Given the description of an element on the screen output the (x, y) to click on. 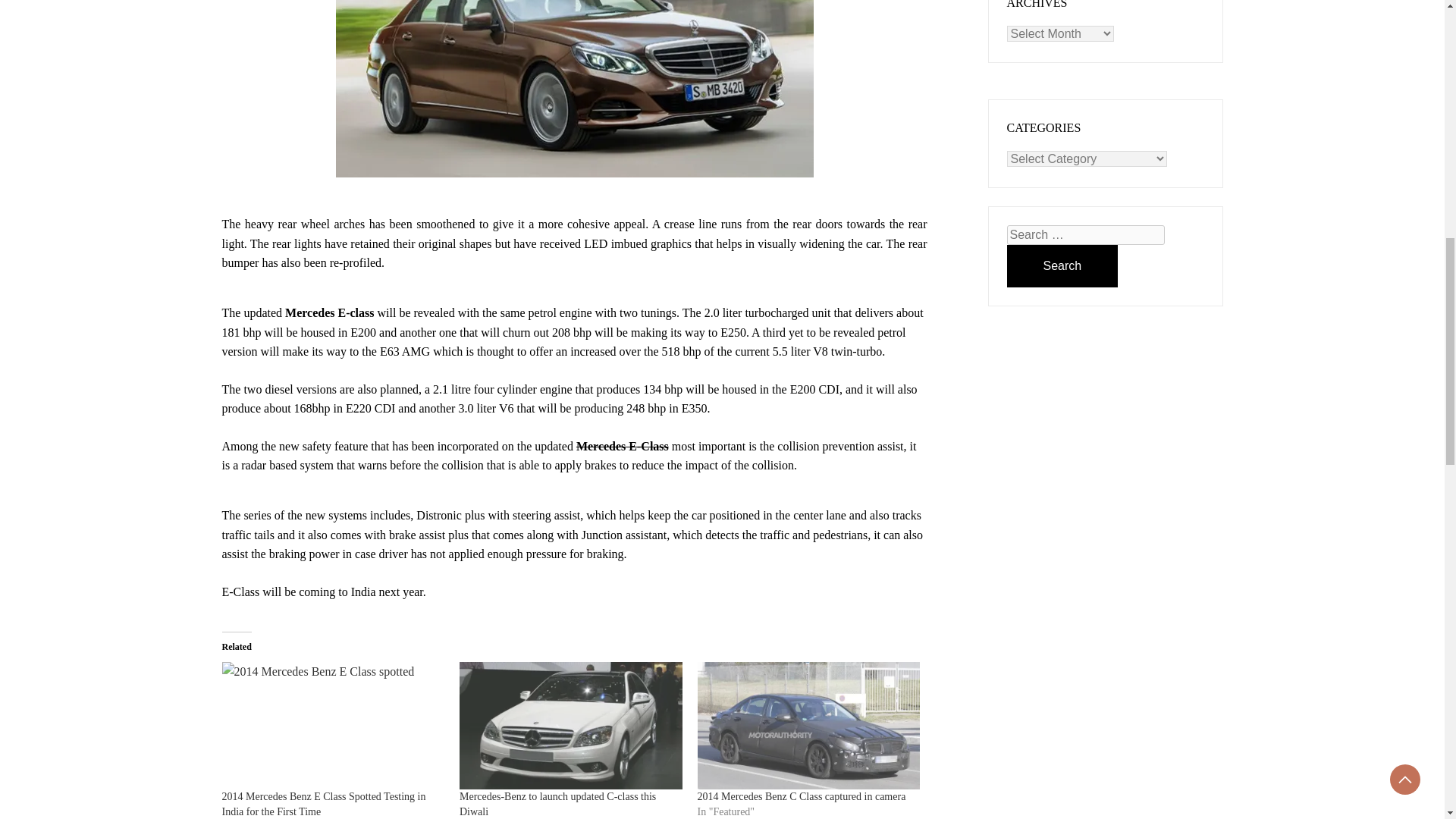
2014 Mercedes Benz C Class captured in camera (808, 725)
The all new Mercedes E-Class facelift pics leaked (622, 445)
Refreshed Mercedes E-class unveiled (573, 88)
Search (1062, 265)
Mercedes E-Class (622, 445)
Search (1062, 265)
2014 Mercedes Benz C Class captured in camera (801, 796)
2014 Mercedes Benz C Class captured in camera (801, 796)
